Given the description of an element on the screen output the (x, y) to click on. 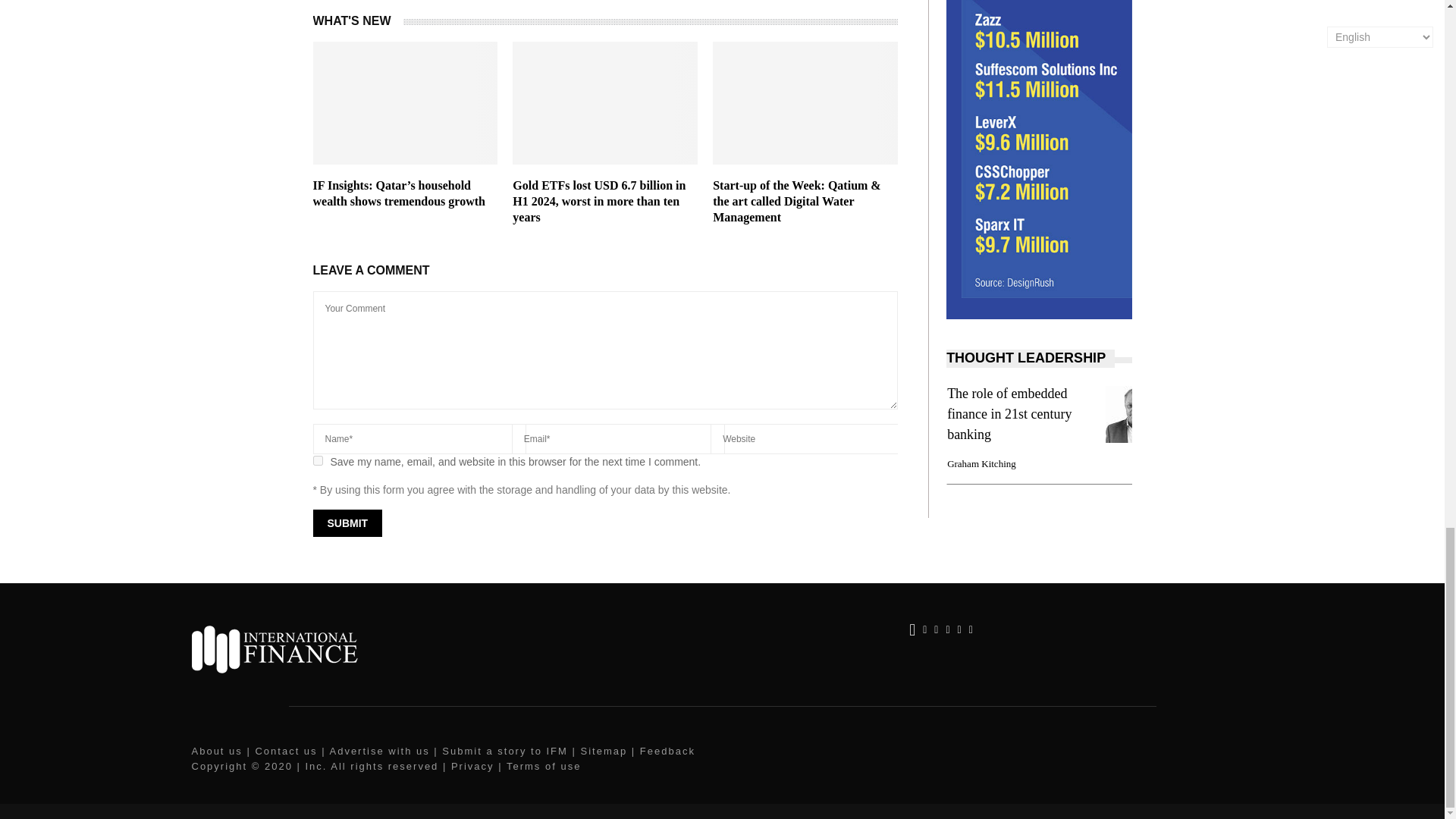
Submit (347, 523)
yes (317, 460)
